Given the description of an element on the screen output the (x, y) to click on. 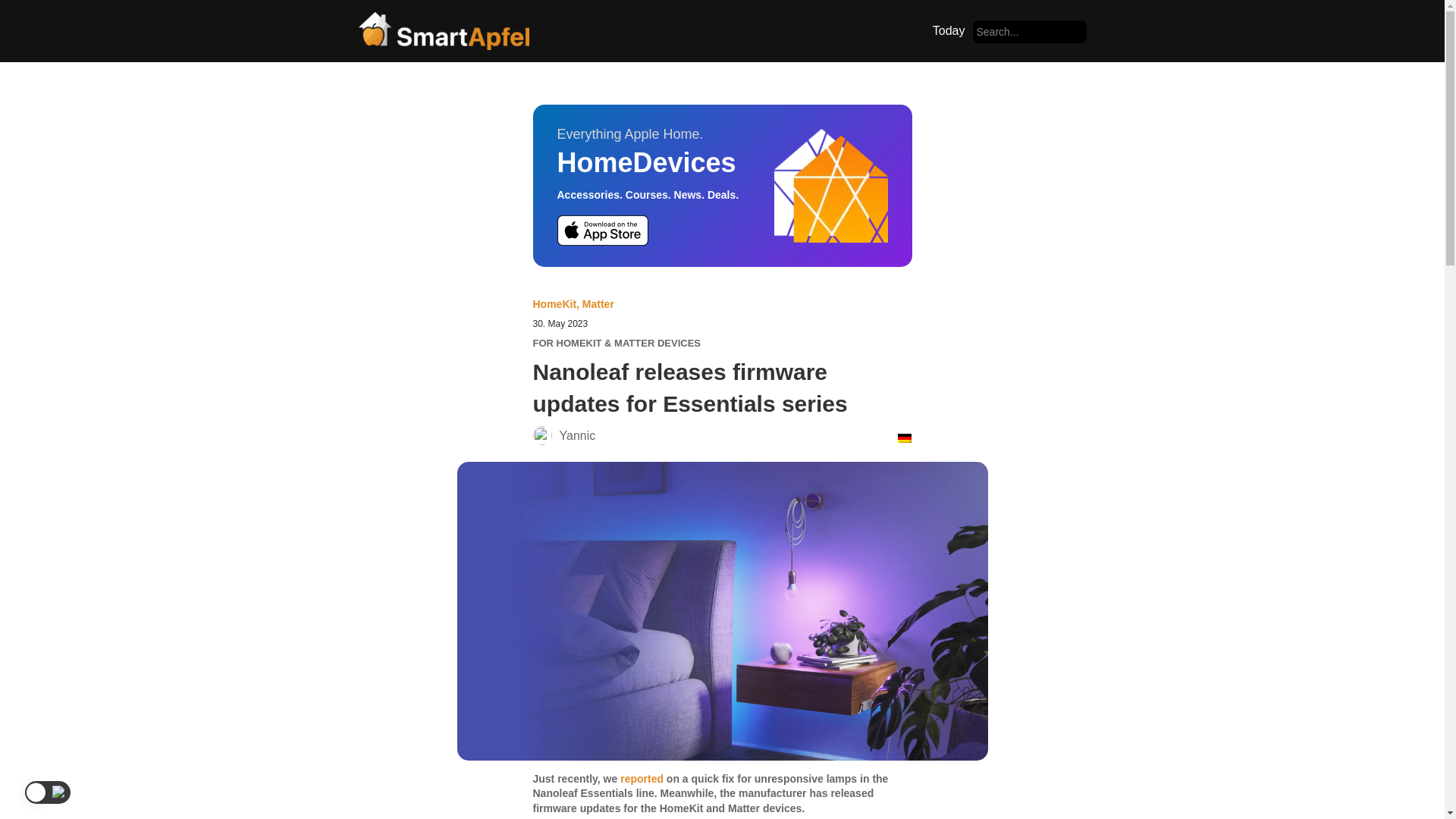
Matter (598, 303)
Search (39, 16)
HomeKit (554, 303)
Today (948, 30)
reported (641, 778)
